Given the description of an element on the screen output the (x, y) to click on. 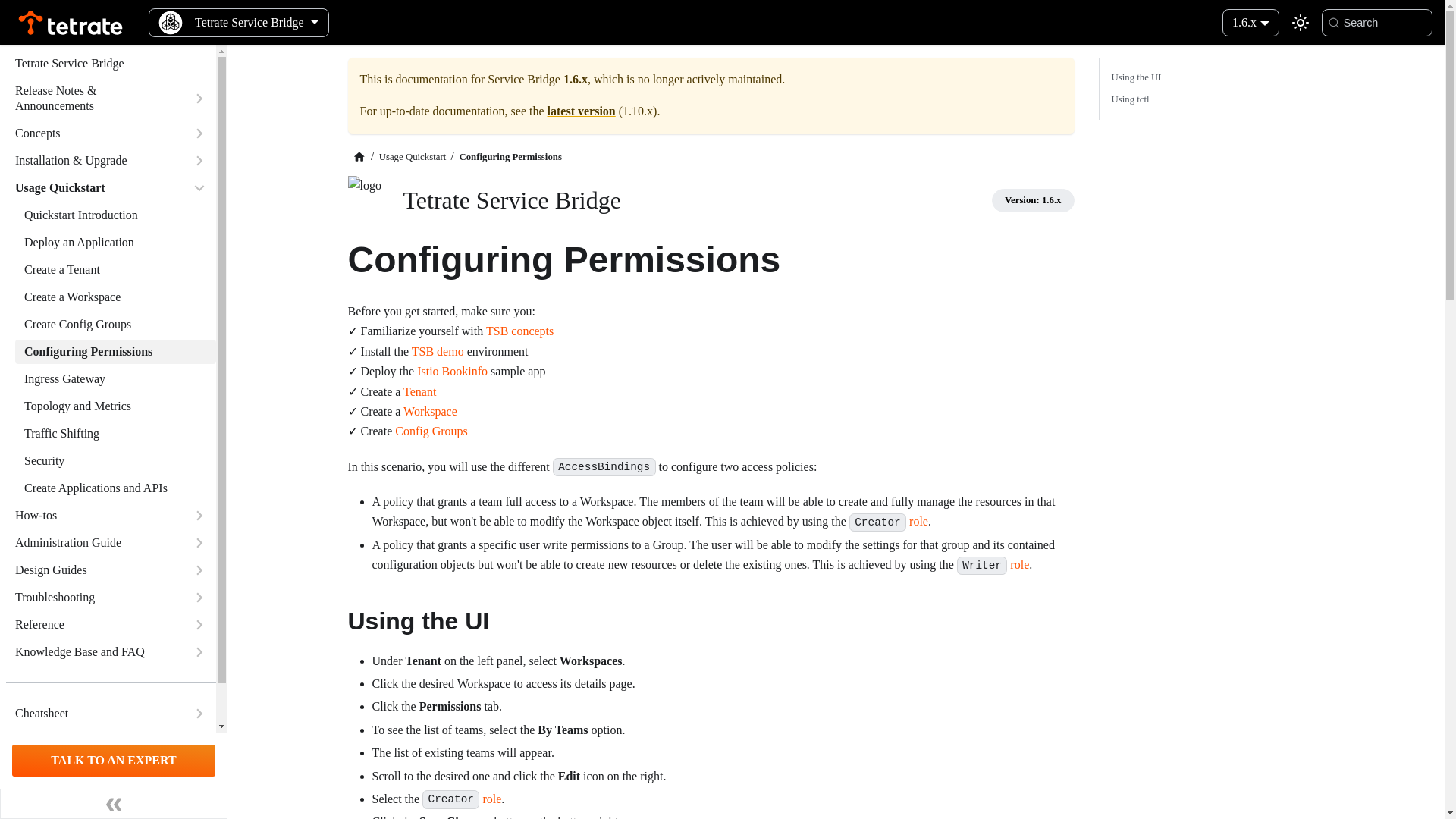
Concepts (94, 133)
1.6.x (1250, 21)
Create Config Groups (114, 324)
Usage Quickstart (94, 187)
Quickstart Introduction (114, 215)
Traffic Shifting (114, 433)
Tetrate Service Bridge (110, 63)
Topology and Metrics (114, 405)
Collapse sidebar (113, 803)
Ingress Gateway (114, 378)
